Given the description of an element on the screen output the (x, y) to click on. 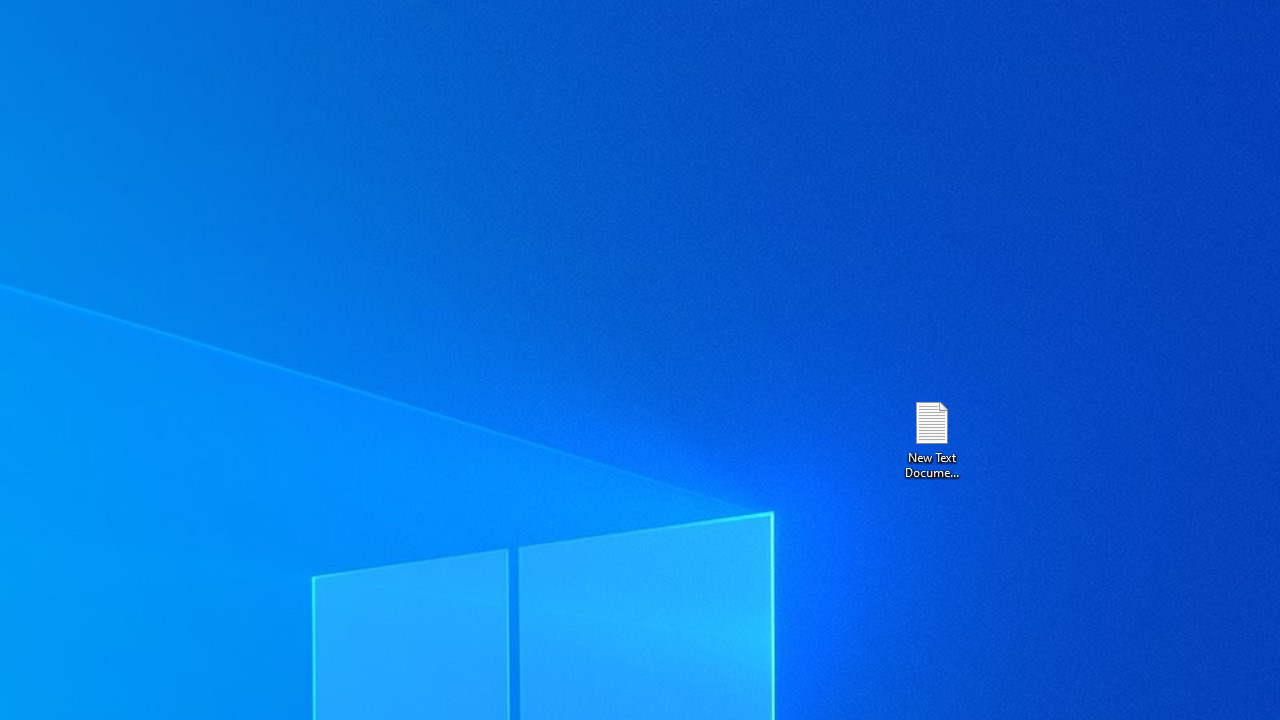
New Text Document (2) (931, 438)
